Given the description of an element on the screen output the (x, y) to click on. 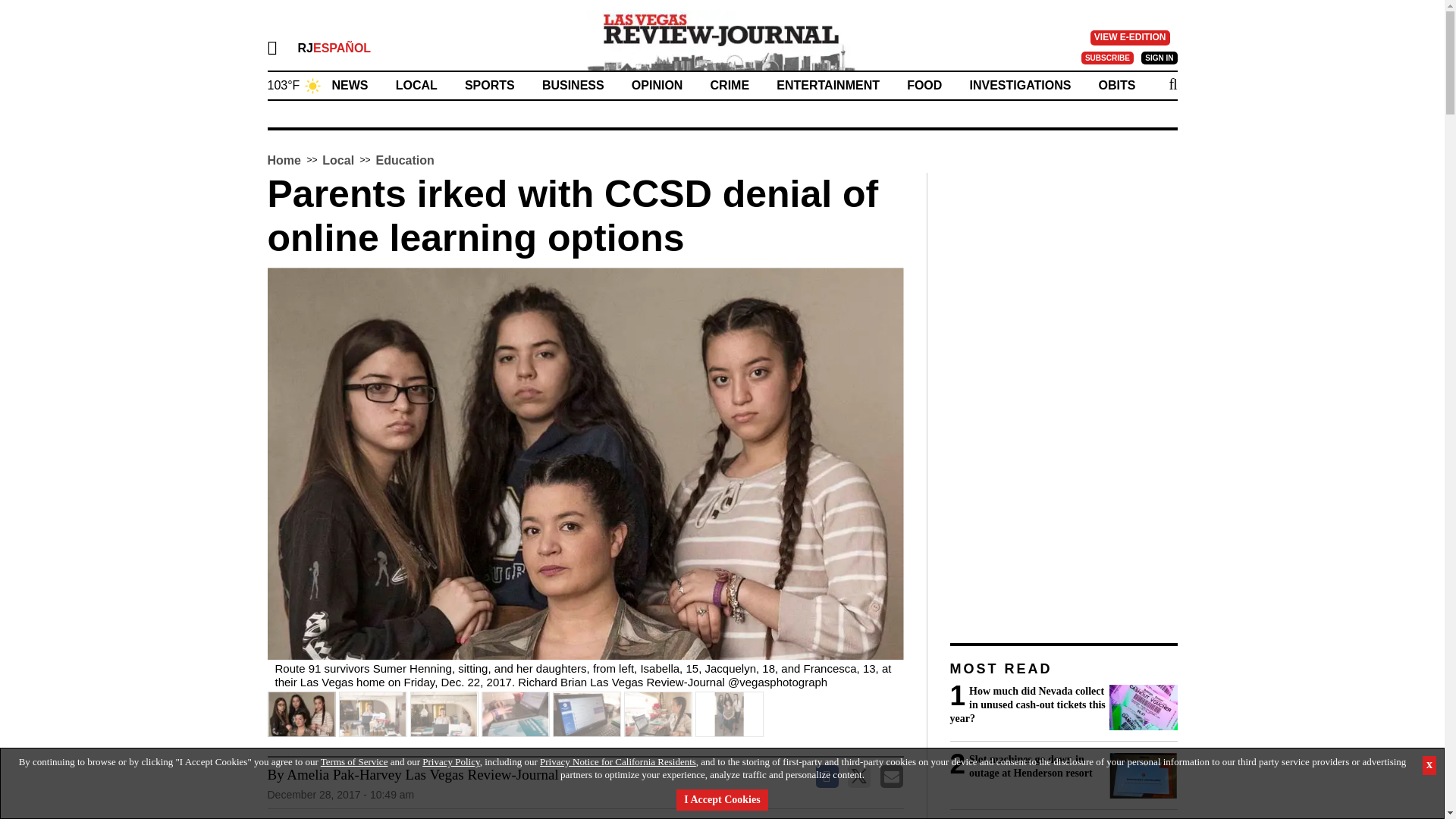
facebook like widget (557, 816)
Weather Forecast (293, 83)
INVESTIGATIONS (1019, 84)
OPINION (656, 84)
BUSINESS (572, 84)
CRIME (729, 84)
Las Vegas News (721, 39)
SPORTS (489, 84)
FOOD (924, 84)
SUBSCRIBE (1107, 58)
OBITS (1117, 84)
ENTERTAINMENT (827, 84)
VIEW E-EDITION (1130, 37)
NEWS (349, 84)
LOCAL (417, 84)
